Given the description of an element on the screen output the (x, y) to click on. 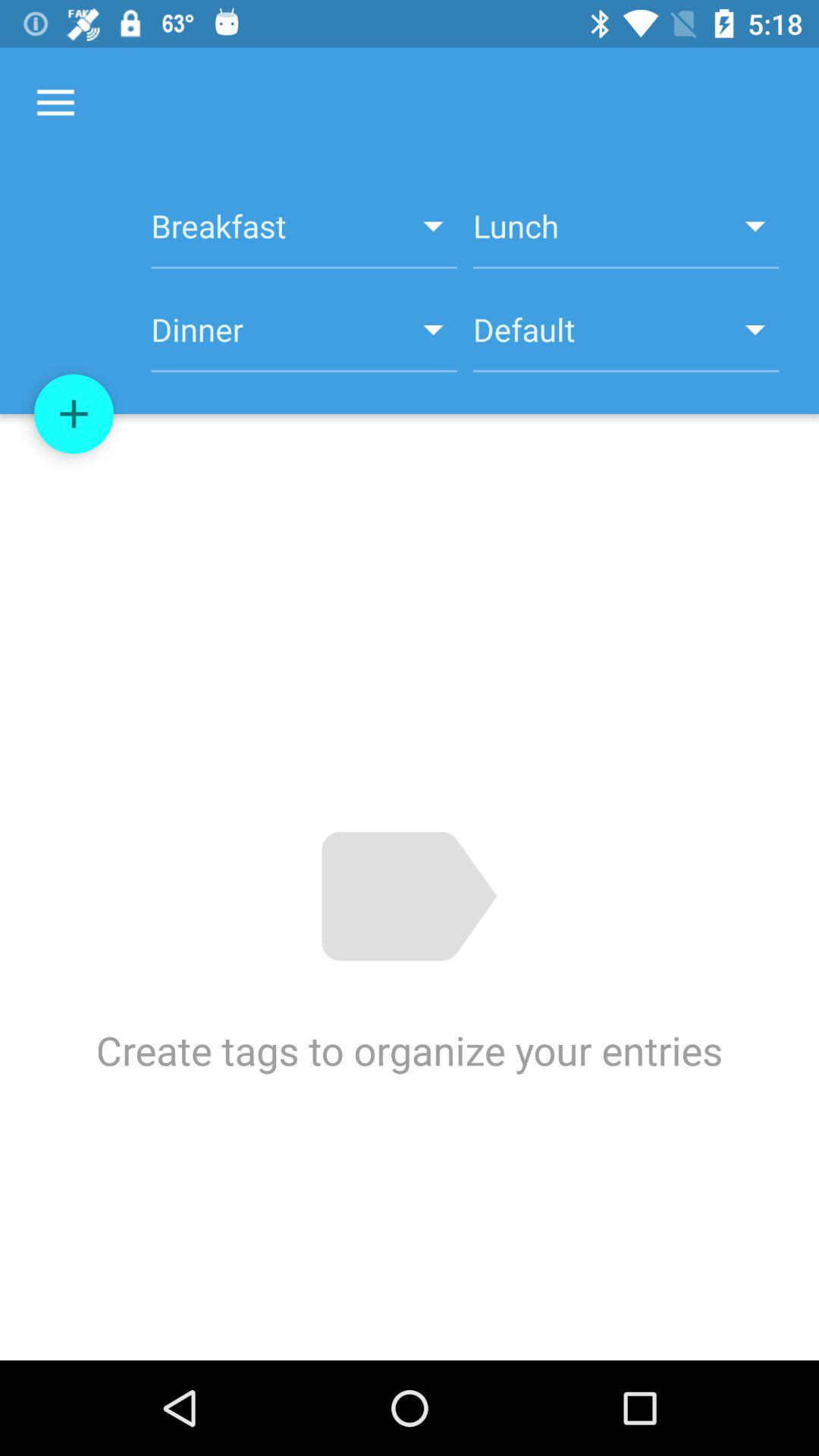
open the item below breakfast (626, 338)
